Given the description of an element on the screen output the (x, y) to click on. 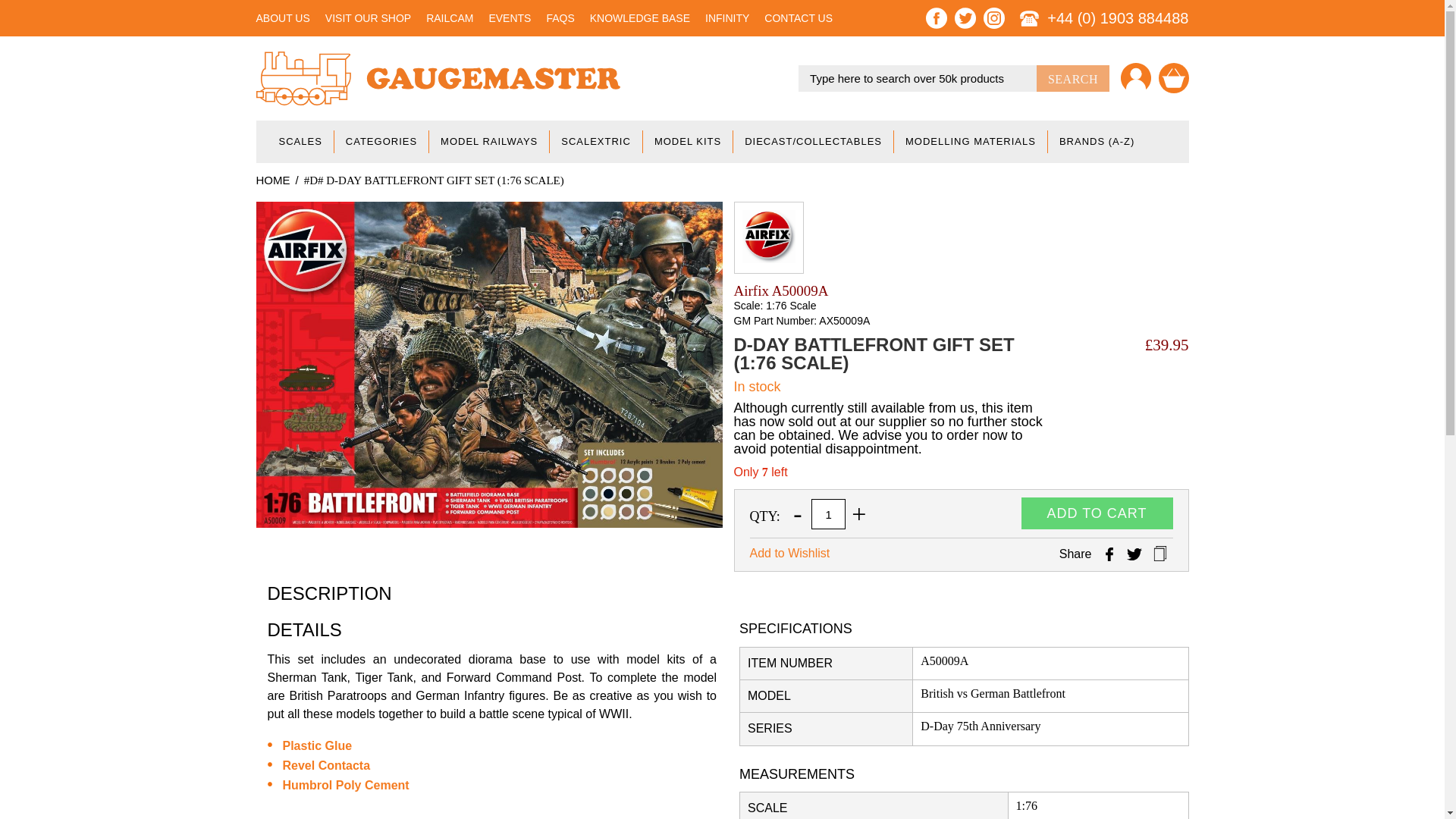
Share on Facebook (1109, 554)
Go to Home Page (272, 179)
INFINITY (726, 18)
Click to View (317, 745)
Click to View (345, 784)
Search (1072, 78)
Airfix (767, 235)
FAQS (559, 18)
VISIT OUR SHOP (367, 18)
Only 7 left (760, 472)
RAILCAM (449, 18)
ABOUT US (283, 18)
SEARCH (1072, 78)
Click to View (325, 765)
KNOWLEDGE BASE (639, 18)
